Given the description of an element on the screen output the (x, y) to click on. 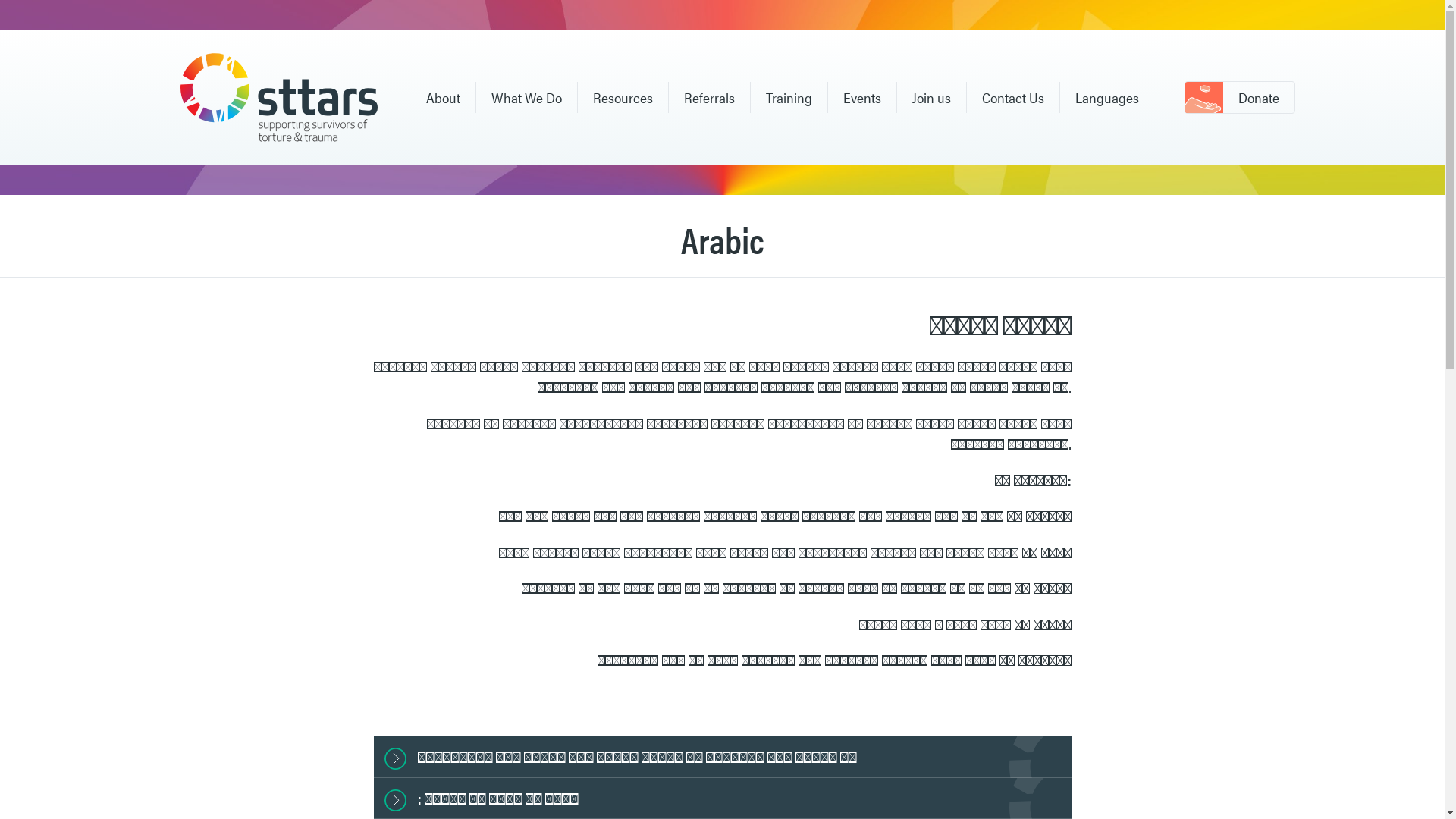
Training Element type: text (788, 97)
Donate Element type: text (1239, 97)
Events Element type: text (862, 97)
Join us Element type: text (930, 97)
About Element type: text (443, 97)
Referrals Element type: text (708, 97)
Languages Element type: text (1107, 97)
Resources Element type: text (622, 97)
Contact Us Element type: text (1012, 97)
What We Do Element type: text (526, 97)
